Given the description of an element on the screen output the (x, y) to click on. 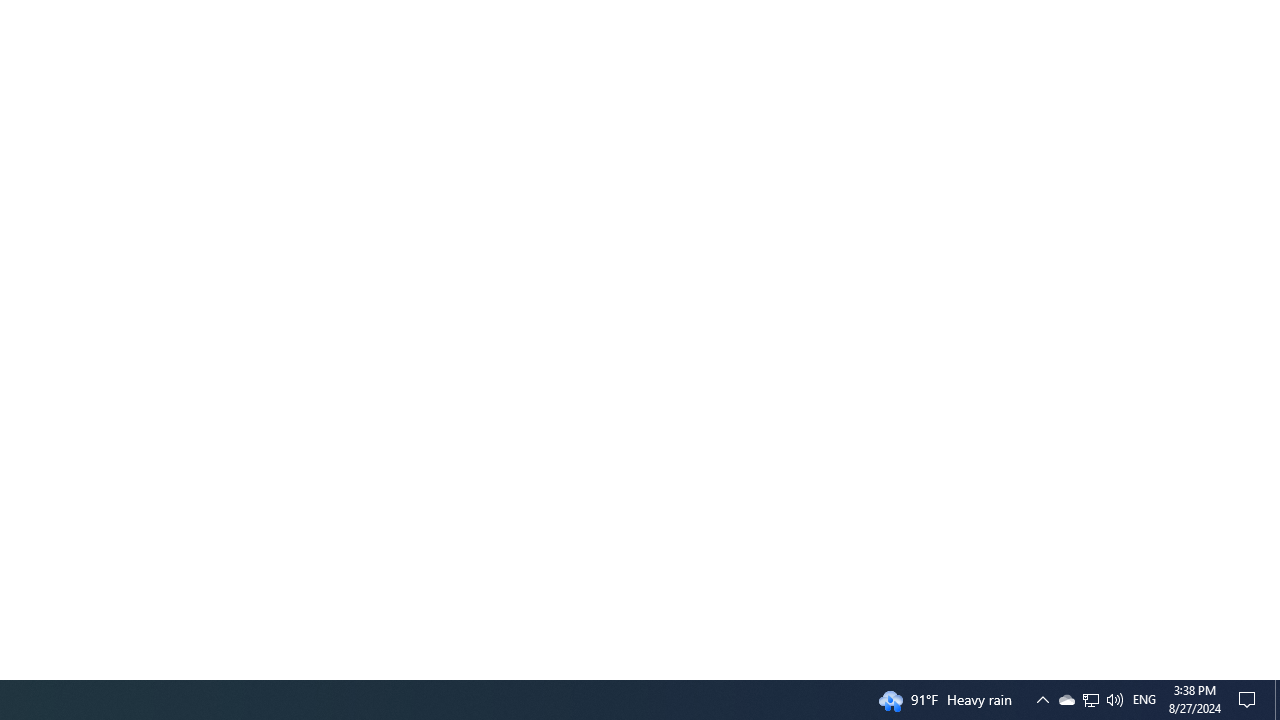
Action Center, No new notifications (1250, 699)
Show desktop (1066, 699)
Q2790: 100% (1277, 699)
User Promoted Notification Area (1114, 699)
Notification Chevron (1091, 699)
Tray Input Indicator - English (United States) (1090, 699)
